Given the description of an element on the screen output the (x, y) to click on. 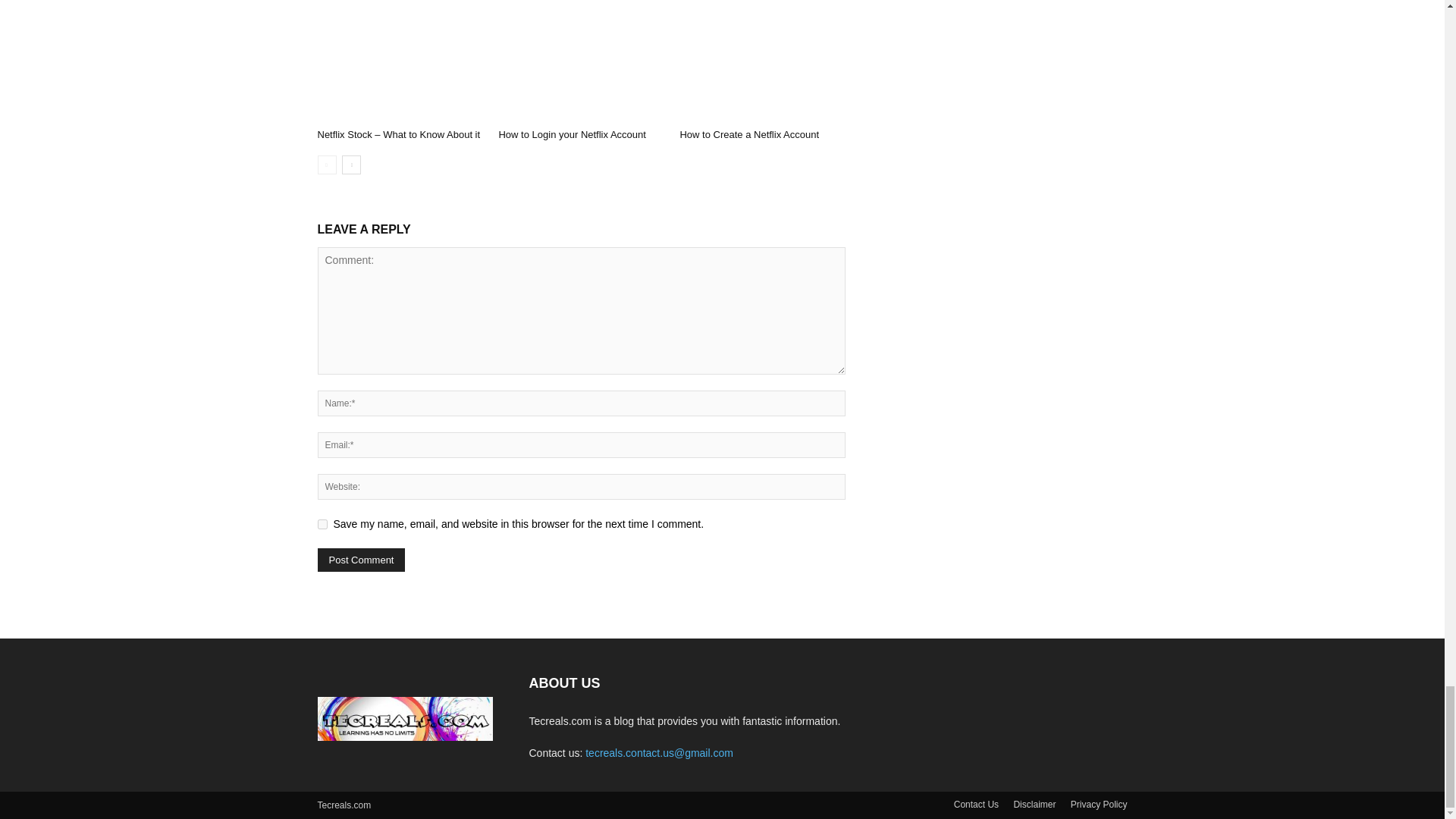
How to Login your Netflix Account (580, 65)
yes (321, 524)
Post Comment (360, 559)
